Given the description of an element on the screen output the (x, y) to click on. 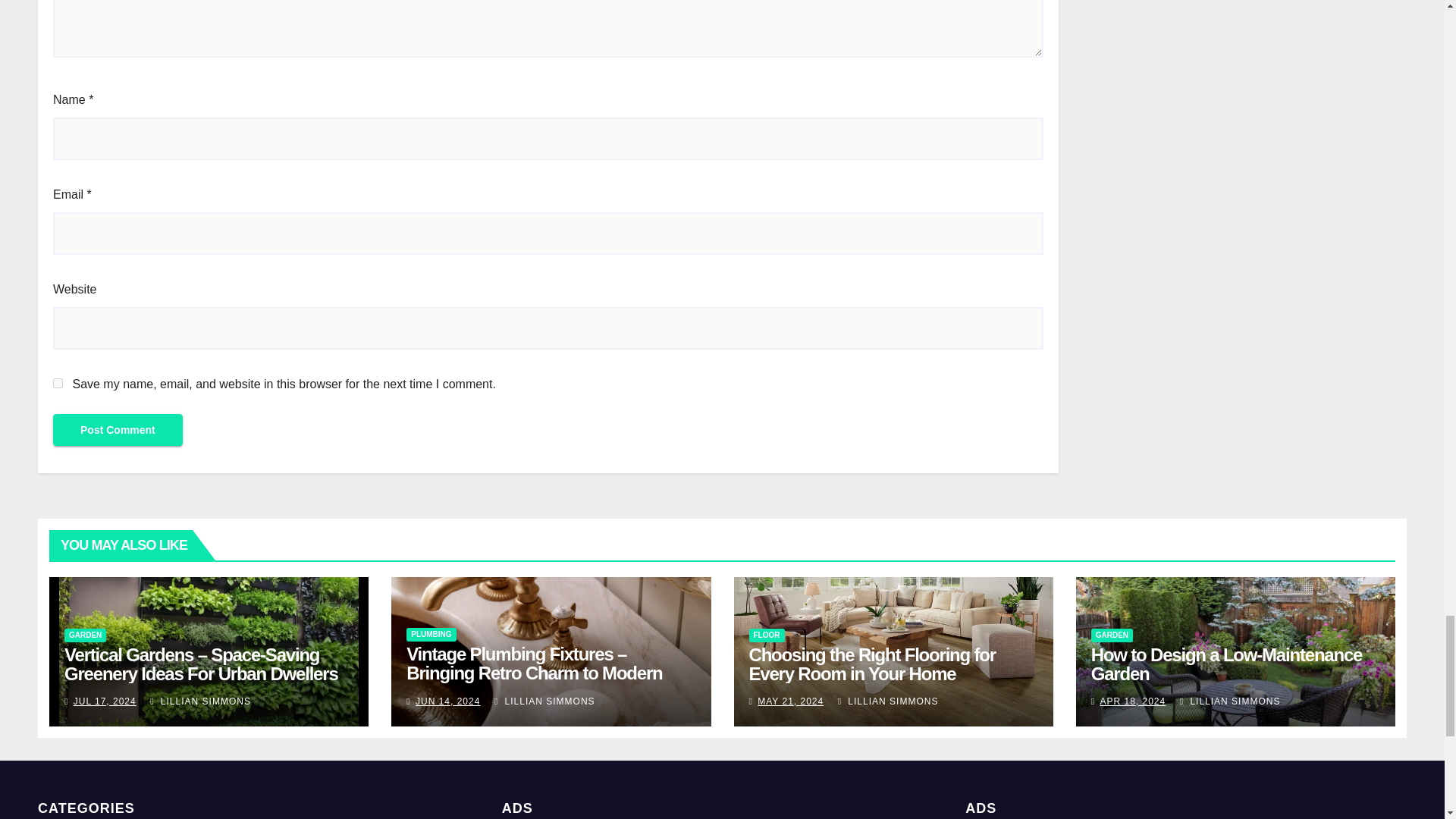
yes (57, 383)
Post Comment (117, 429)
Permalink to: How to Design a Low-Maintenance Garden (1226, 663)
